Given the description of an element on the screen output the (x, y) to click on. 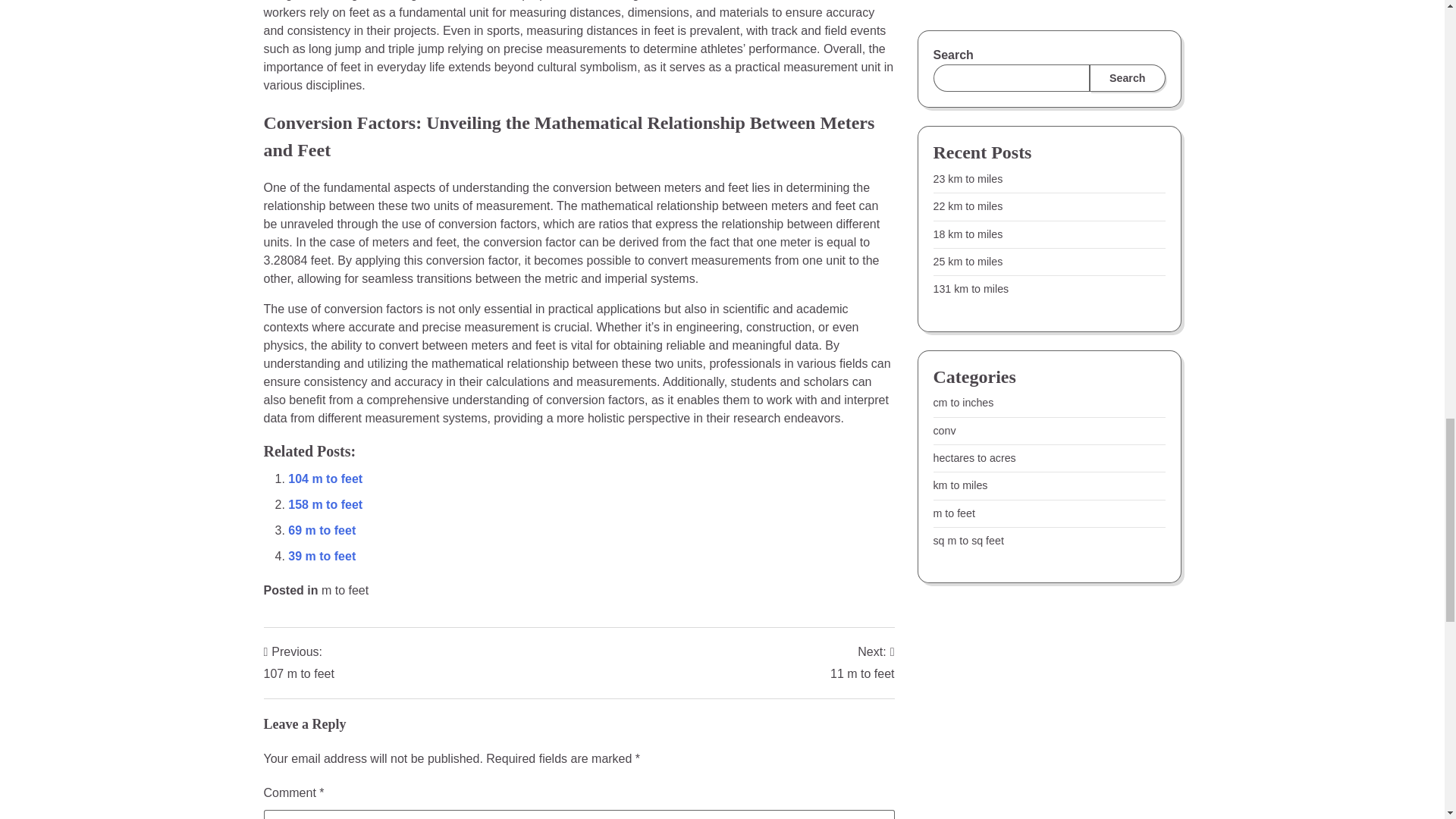
158 m to feet (325, 504)
104 m to feet (325, 478)
39 m to feet (321, 555)
158 m to feet (325, 504)
104 m to feet (862, 662)
69 m to feet (325, 478)
69 m to feet (298, 662)
39 m to feet (321, 530)
